Given the description of an element on the screen output the (x, y) to click on. 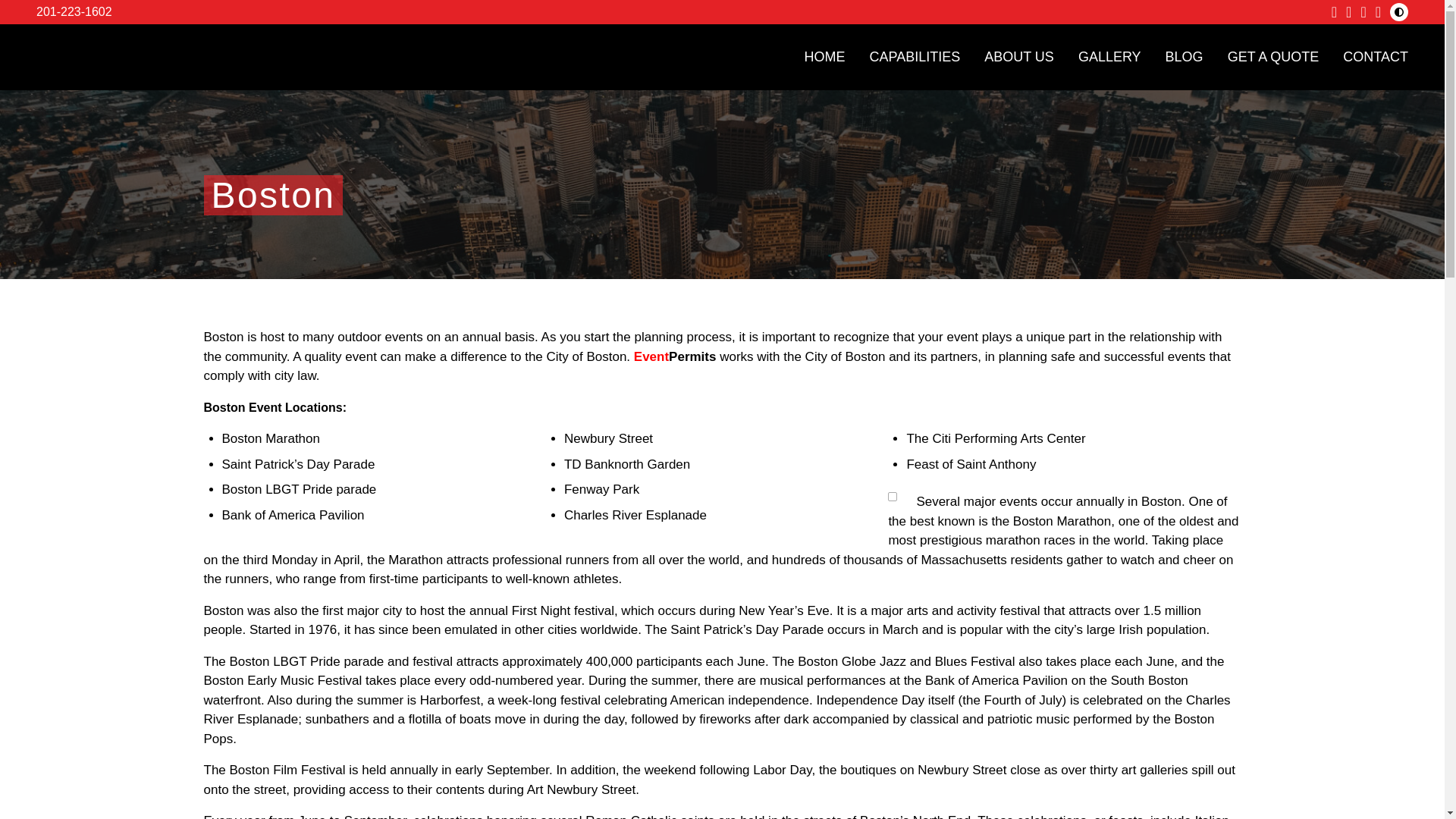
Twitter (1377, 11)
Instagram (1348, 11)
GET A QUOTE (1273, 56)
HOME (823, 56)
ABOUT US (1019, 56)
Facebook (1334, 11)
BLOG (1185, 56)
LinkedIn (1362, 11)
CONTACT (1374, 56)
GALLERY (1109, 56)
Toggle High Contrast Mode (1398, 12)
Facebook (1334, 11)
Twitter (1377, 11)
CAPABILITIES (914, 56)
